Given the description of an element on the screen output the (x, y) to click on. 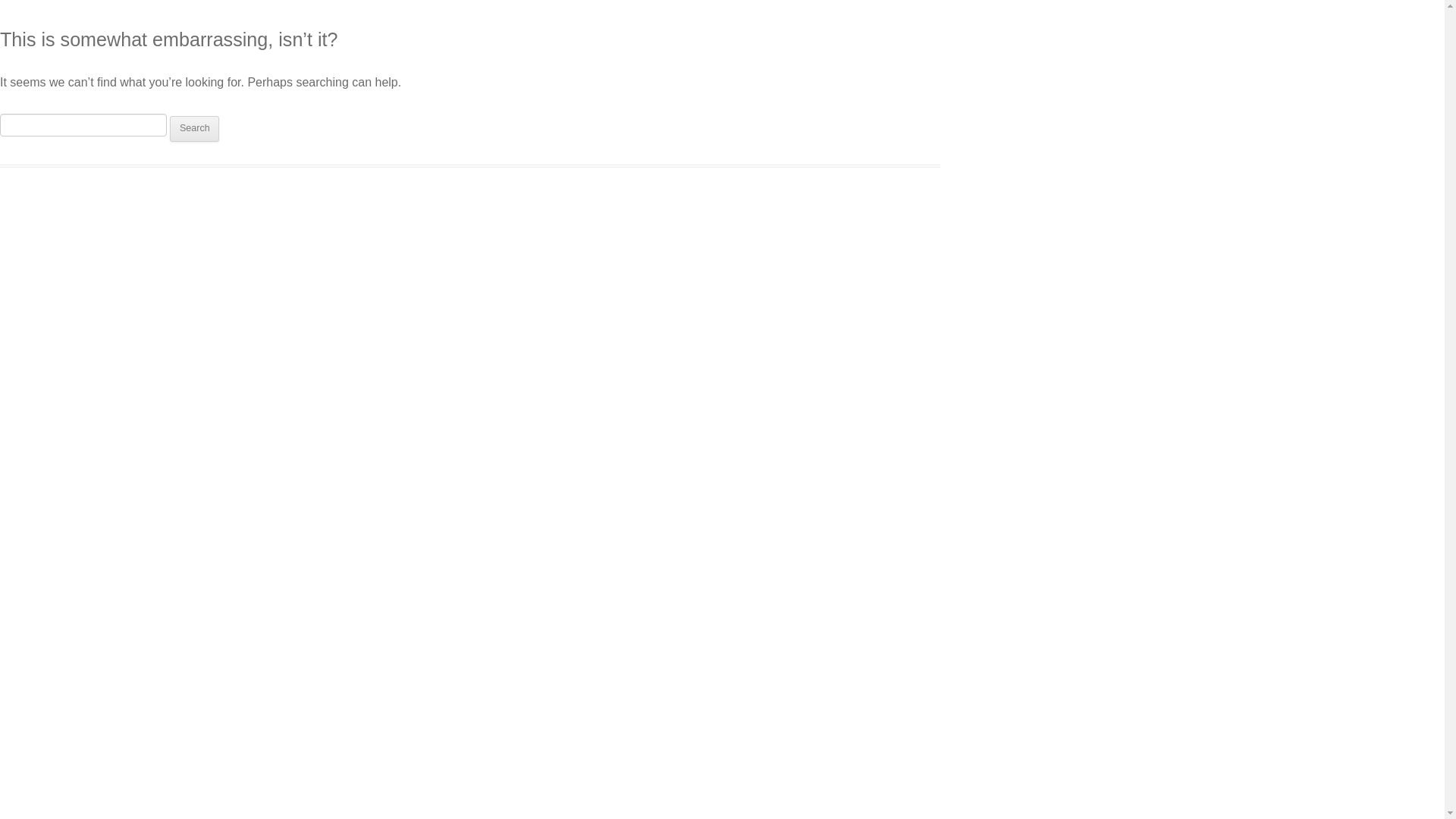
Search Element type: text (194, 128)
